Given the description of an element on the screen output the (x, y) to click on. 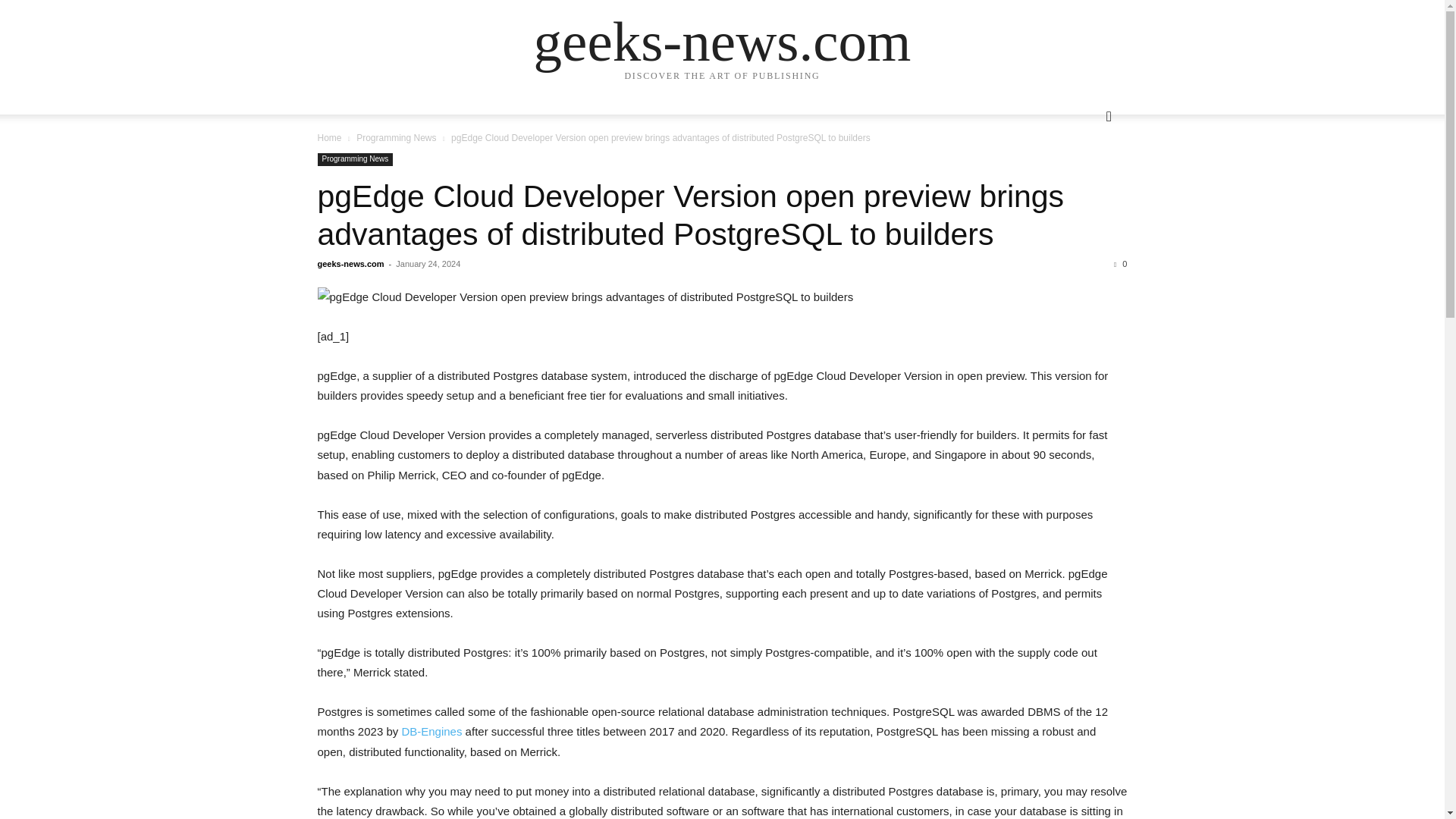
Search (1085, 177)
geeks-news.com (722, 41)
0 (1119, 263)
Home (328, 137)
Programming News (355, 159)
geeks-news.com (350, 263)
Programming News (395, 137)
